Given the description of an element on the screen output the (x, y) to click on. 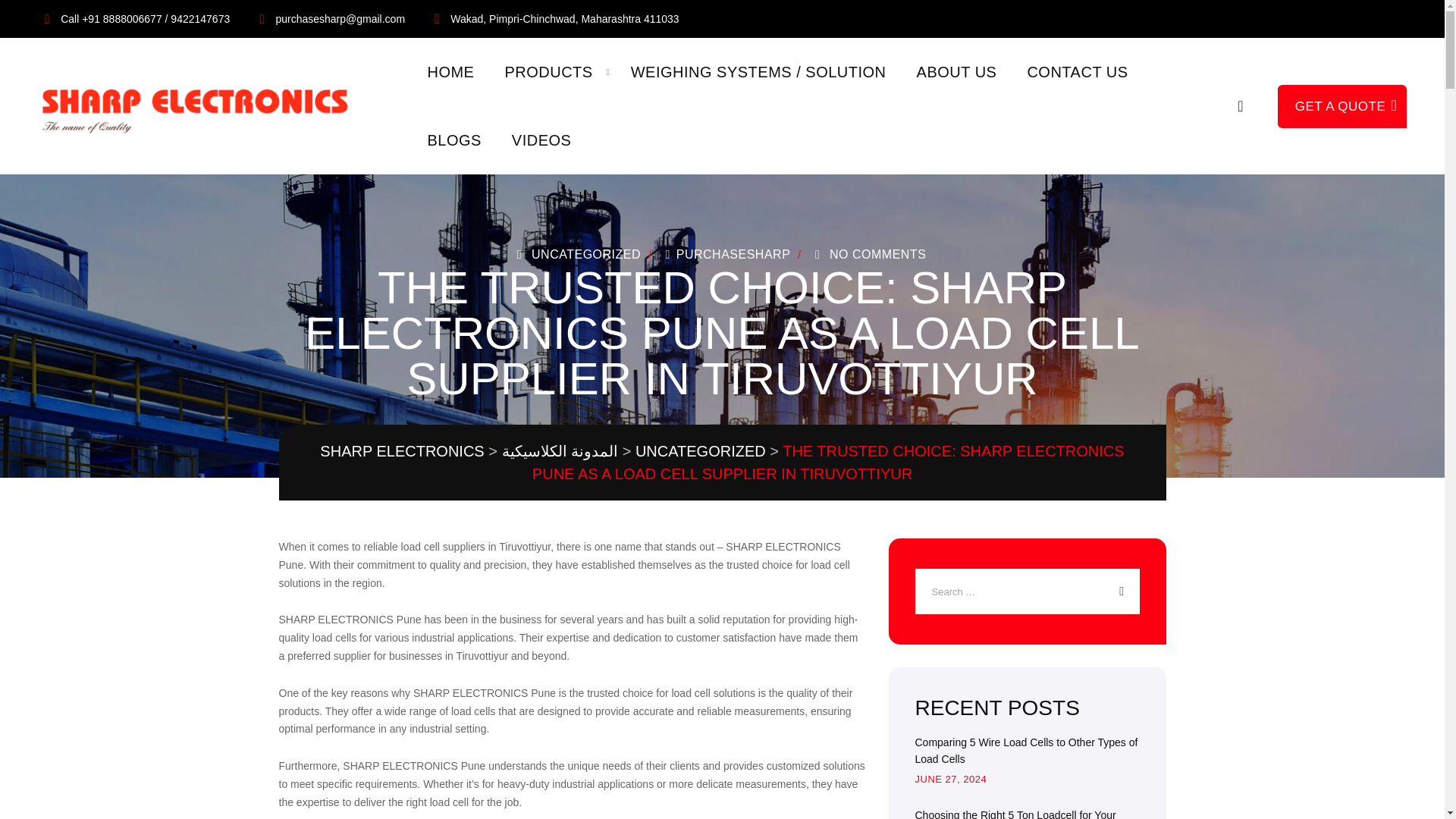
GET A QUOTE (1342, 106)
UNCATEGORIZED (585, 254)
Go to the Uncategorized Category archives. (699, 451)
PRODUCTS (547, 71)
SHARP ELECTRONICS (401, 451)
ABOUT US (957, 71)
CONTACT US (1076, 71)
PURCHASESHARP (724, 254)
Sharp Electronics (201, 105)
Go to Sharp Electronics. (401, 451)
